Given the description of an element on the screen output the (x, y) to click on. 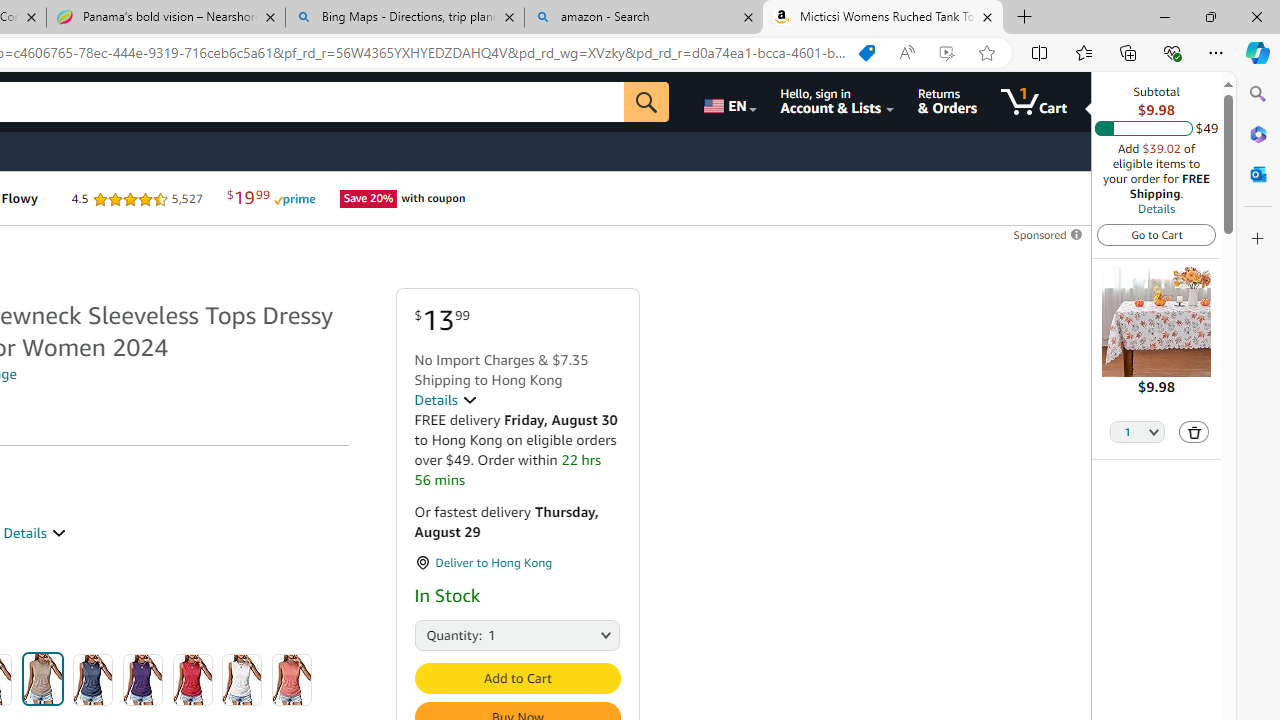
Pink (292, 679)
amazon - Search (643, 17)
Hello, sign in Account & Lists (836, 101)
White (242, 679)
Red (192, 679)
Go to Cart (1156, 234)
Purple (143, 679)
Returns & Orders (946, 101)
